Given the description of an element on the screen output the (x, y) to click on. 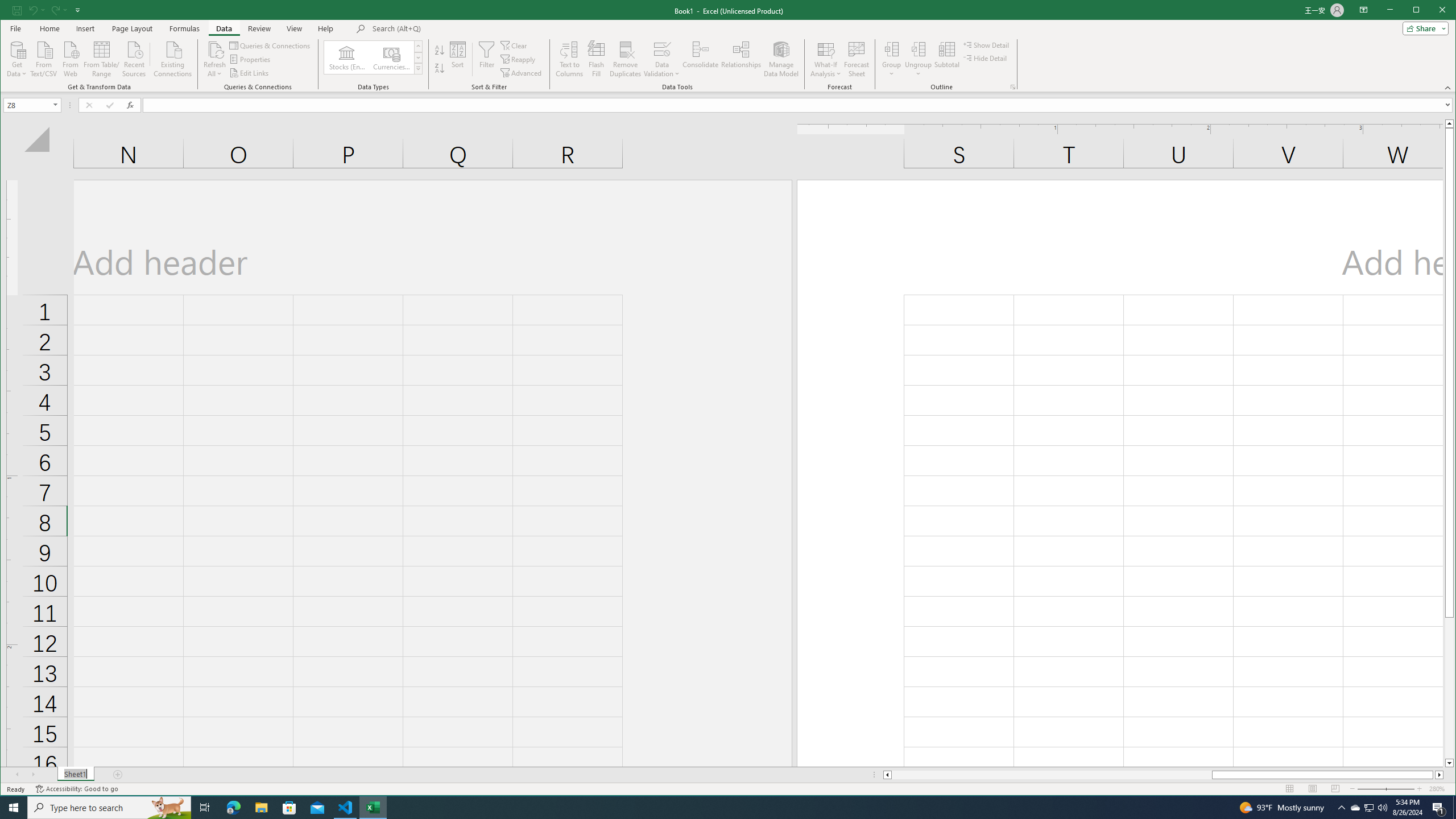
Class: NetUIScrollBar (1163, 774)
Flash Fill (596, 59)
Scroll Left (18, 774)
Class: MsoCommandBar (728, 45)
Row Down (417, 57)
Existing Connections (172, 57)
Save (16, 9)
From Web (70, 57)
Line up (1449, 122)
Get Data (17, 57)
Column right (1439, 774)
